Given the description of an element on the screen output the (x, y) to click on. 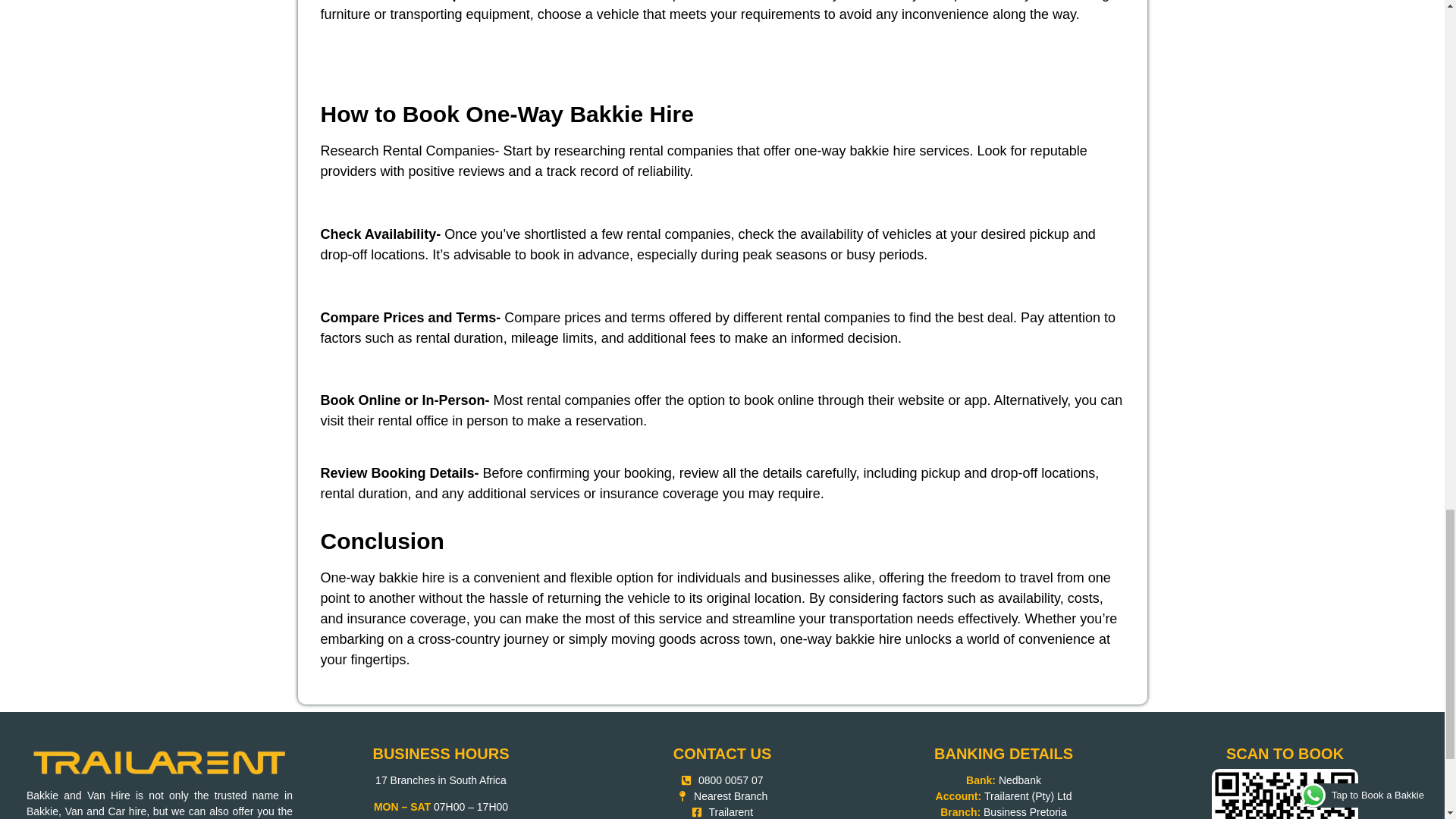
Nearest Branch (722, 796)
Trailarent (722, 811)
0800 0057 07 (722, 780)
